Given the description of an element on the screen output the (x, y) to click on. 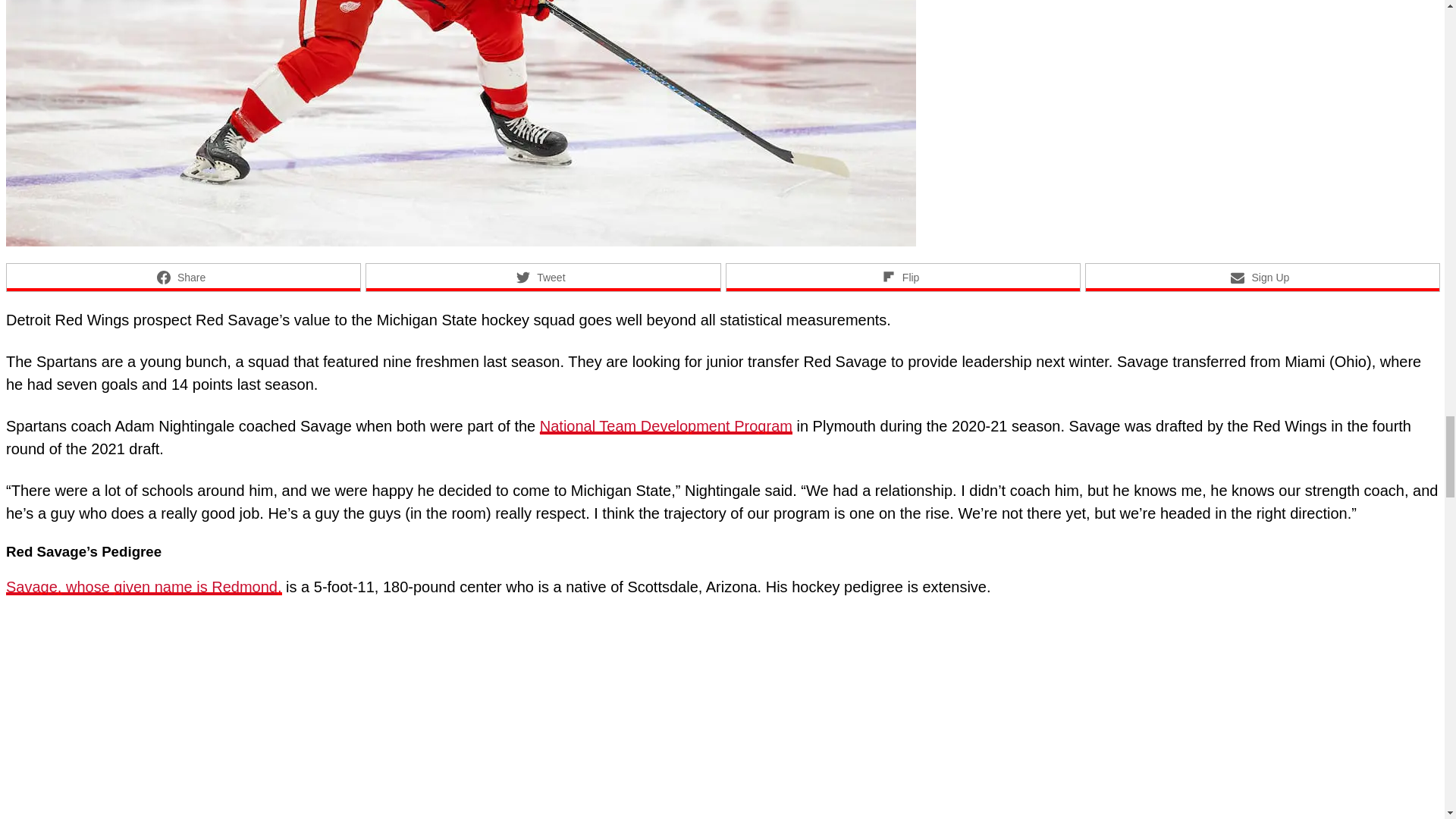
Share on Flip (902, 276)
Share on Tweet (542, 276)
Share on Share (183, 276)
